Given the description of an element on the screen output the (x, y) to click on. 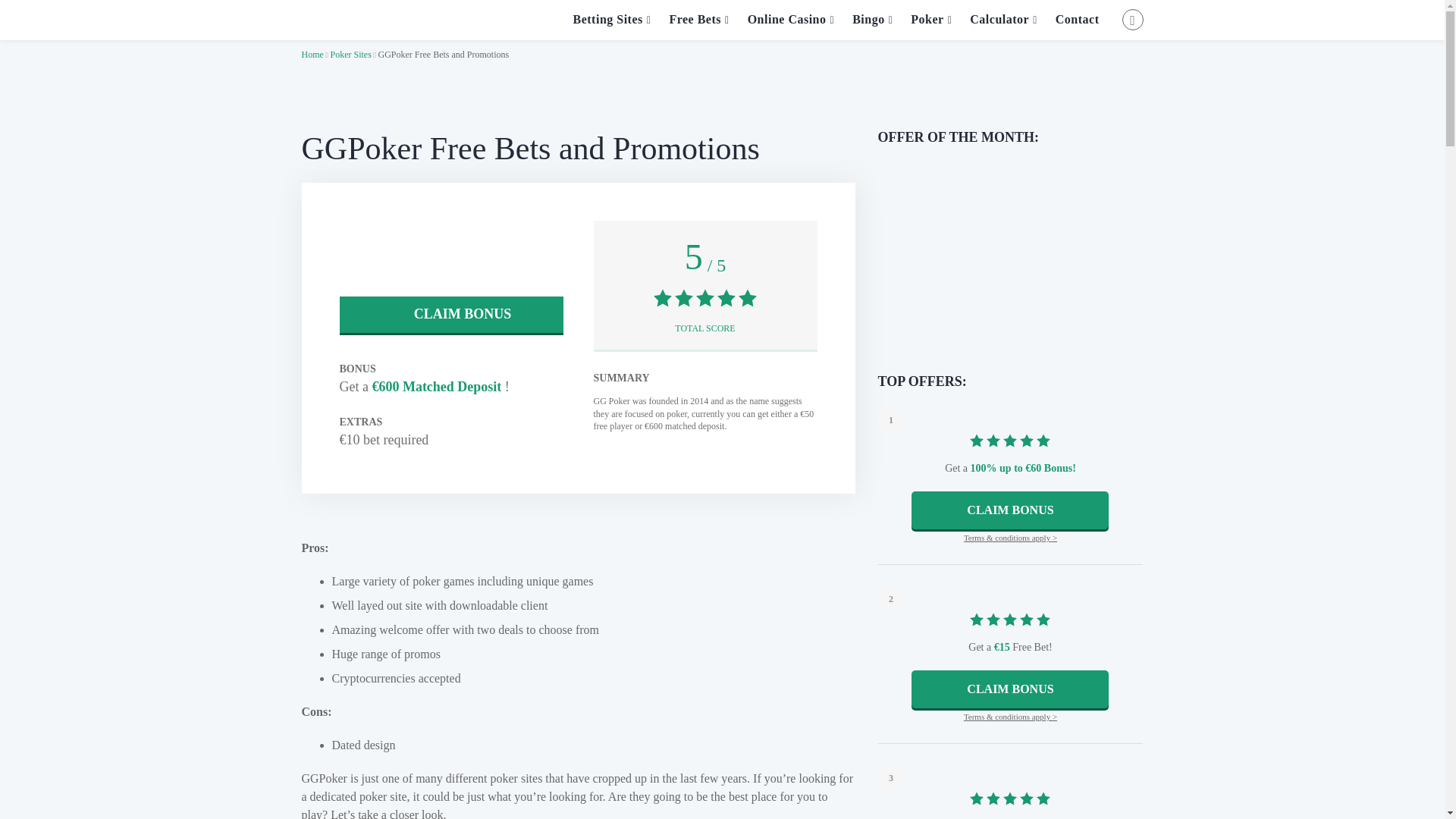
GGPoker Free Bets and Promotions (442, 54)
Betting Sites (611, 20)
Poker Sites (350, 54)
Home (312, 54)
